Given the description of an element on the screen output the (x, y) to click on. 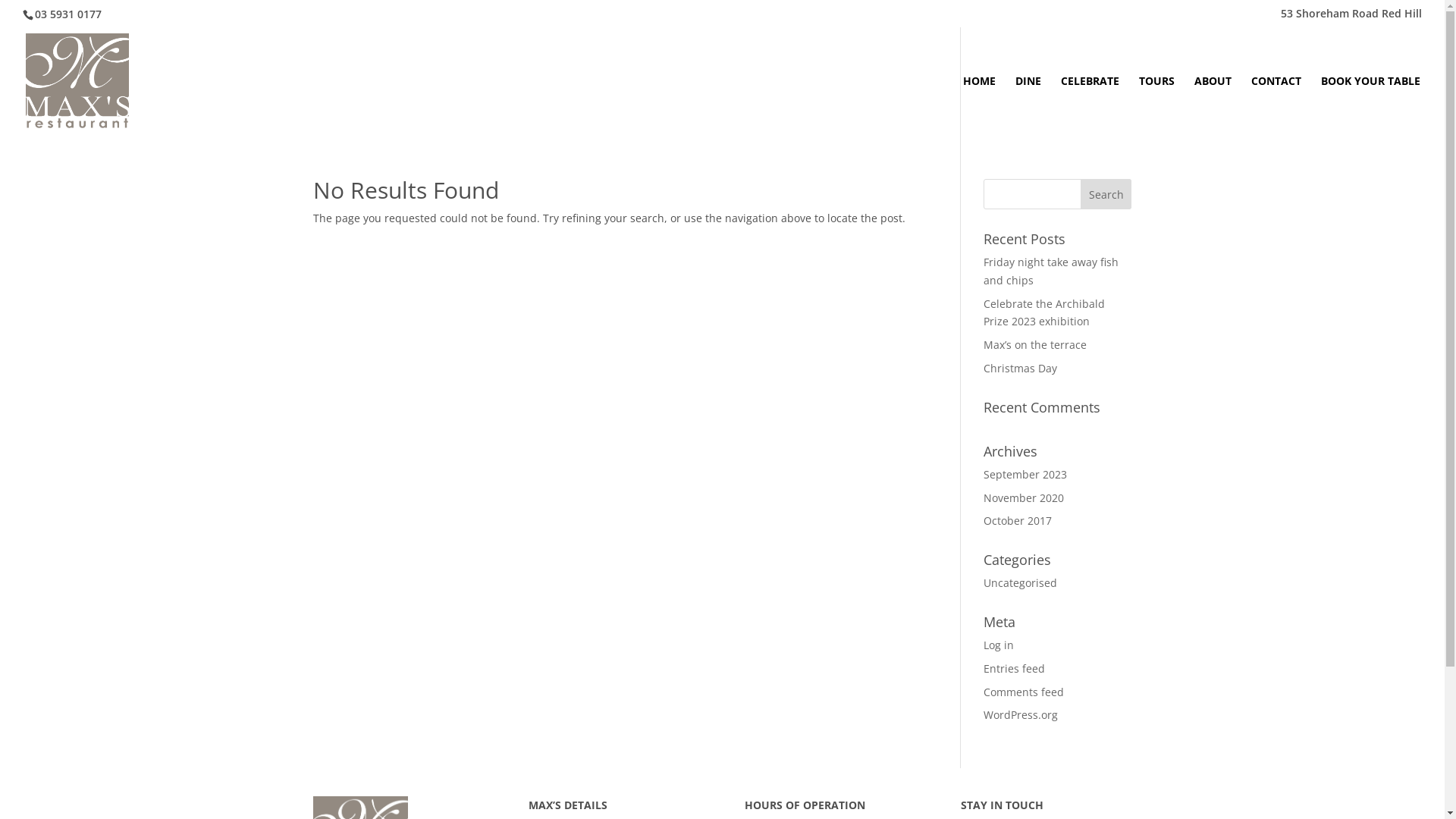
TOURS Element type: text (1156, 104)
November 2020 Element type: text (1023, 497)
CELEBRATE Element type: text (1089, 104)
CONTACT Element type: text (1276, 104)
DINE Element type: text (1028, 104)
ABOUT Element type: text (1212, 104)
53 Shoreham Road Red Hill Element type: text (1350, 16)
BOOK YOUR TABLE Element type: text (1370, 104)
HOME Element type: text (979, 104)
September 2023 Element type: text (1024, 474)
WordPress.org Element type: text (1020, 714)
Celebrate the Archibald Prize 2023 exhibition Element type: text (1043, 312)
Comments feed Element type: text (1023, 691)
October 2017 Element type: text (1017, 520)
Uncategorised Element type: text (1020, 582)
Christmas Day Element type: text (1020, 367)
Friday night take away fish and chips Element type: text (1050, 270)
Search Element type: text (1106, 193)
Log in Element type: text (998, 644)
Entries feed Element type: text (1013, 668)
